Given the description of an element on the screen output the (x, y) to click on. 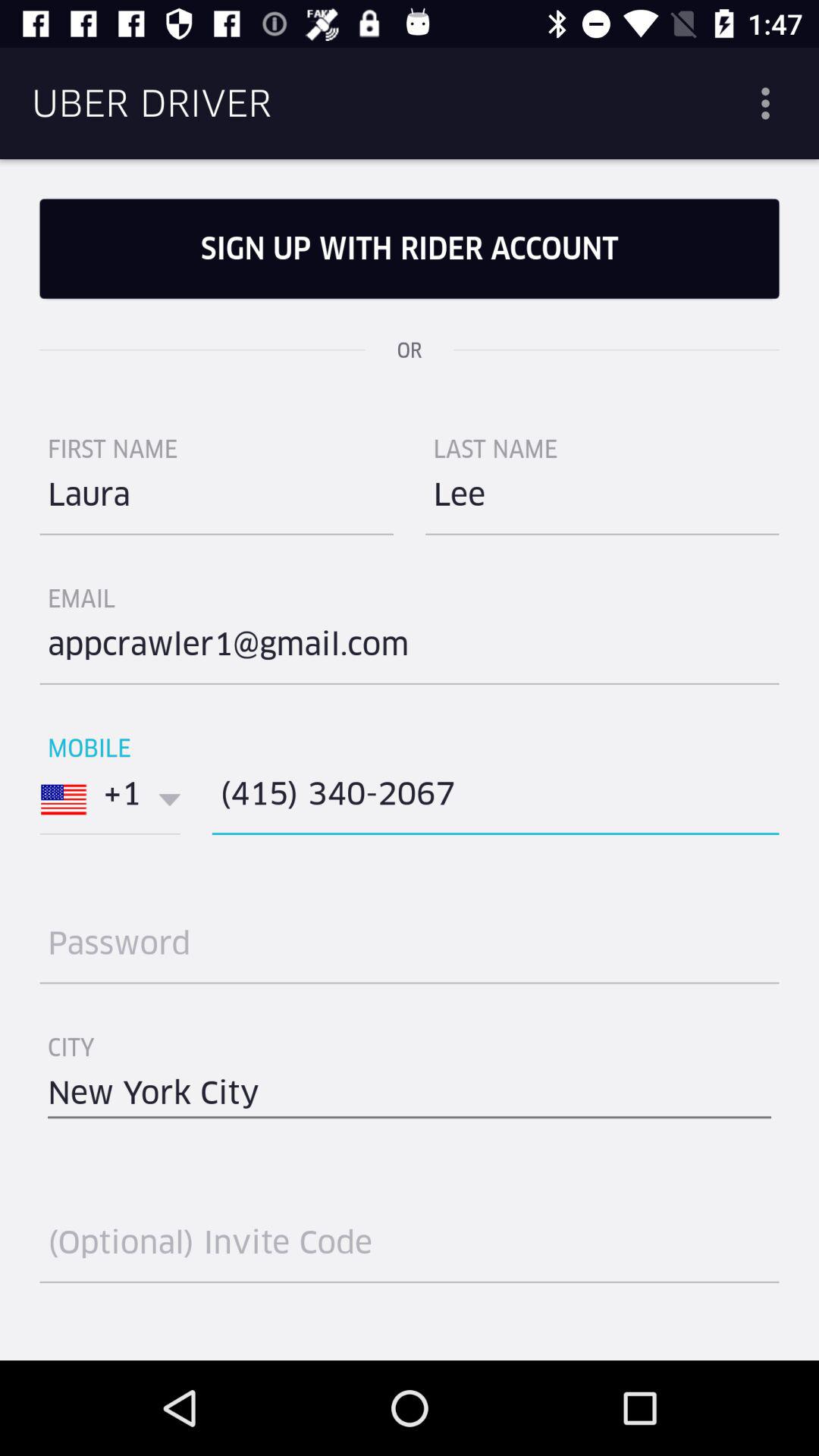
select item below the first name item (216, 500)
